Given the description of an element on the screen output the (x, y) to click on. 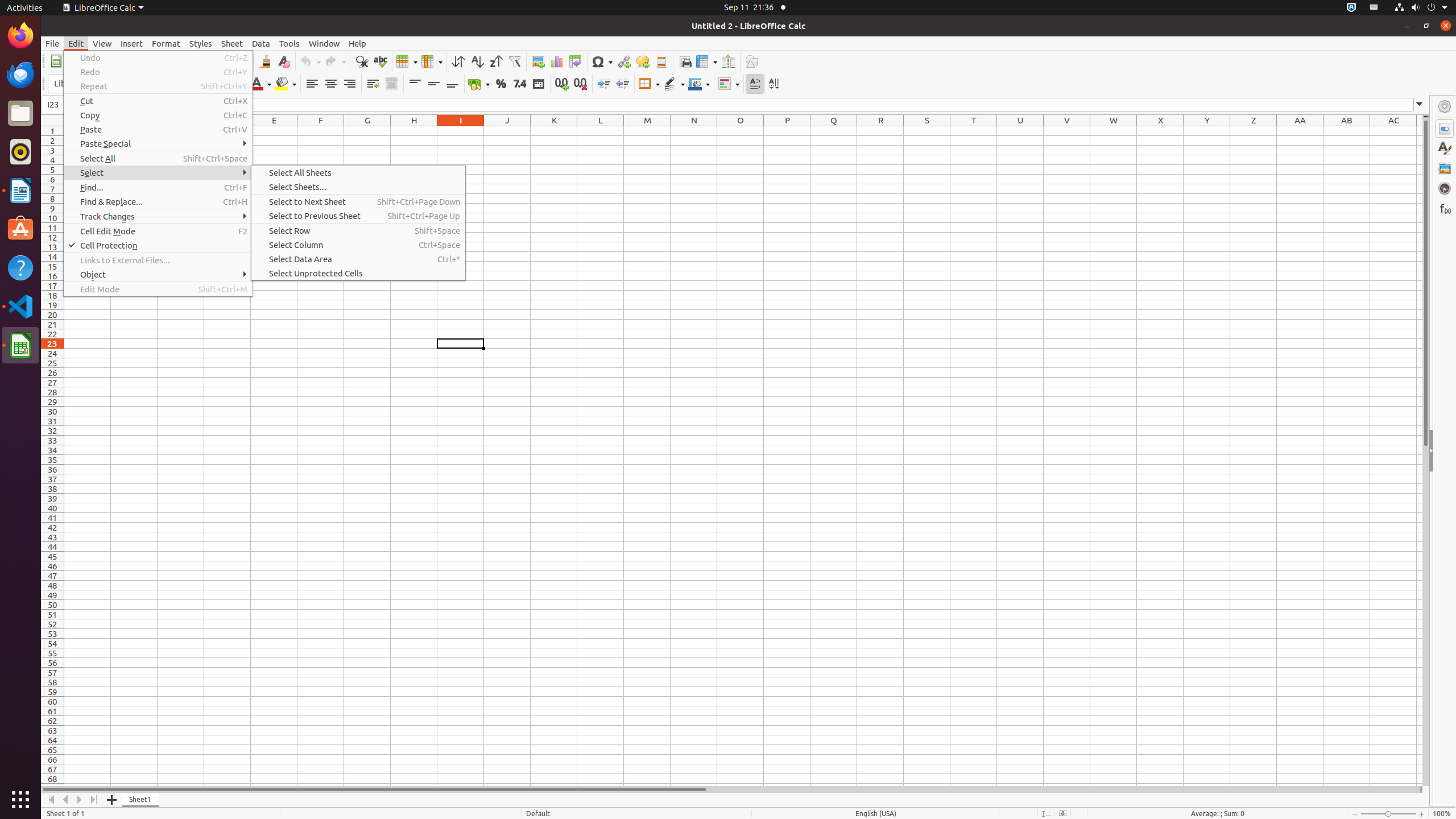
Print Area Element type: push-button (684, 61)
Move To Home Element type: push-button (51, 799)
Pivot Table Element type: push-button (574, 61)
Horizontal scroll bar Element type: scroll-bar (729, 789)
